Given the description of an element on the screen output the (x, y) to click on. 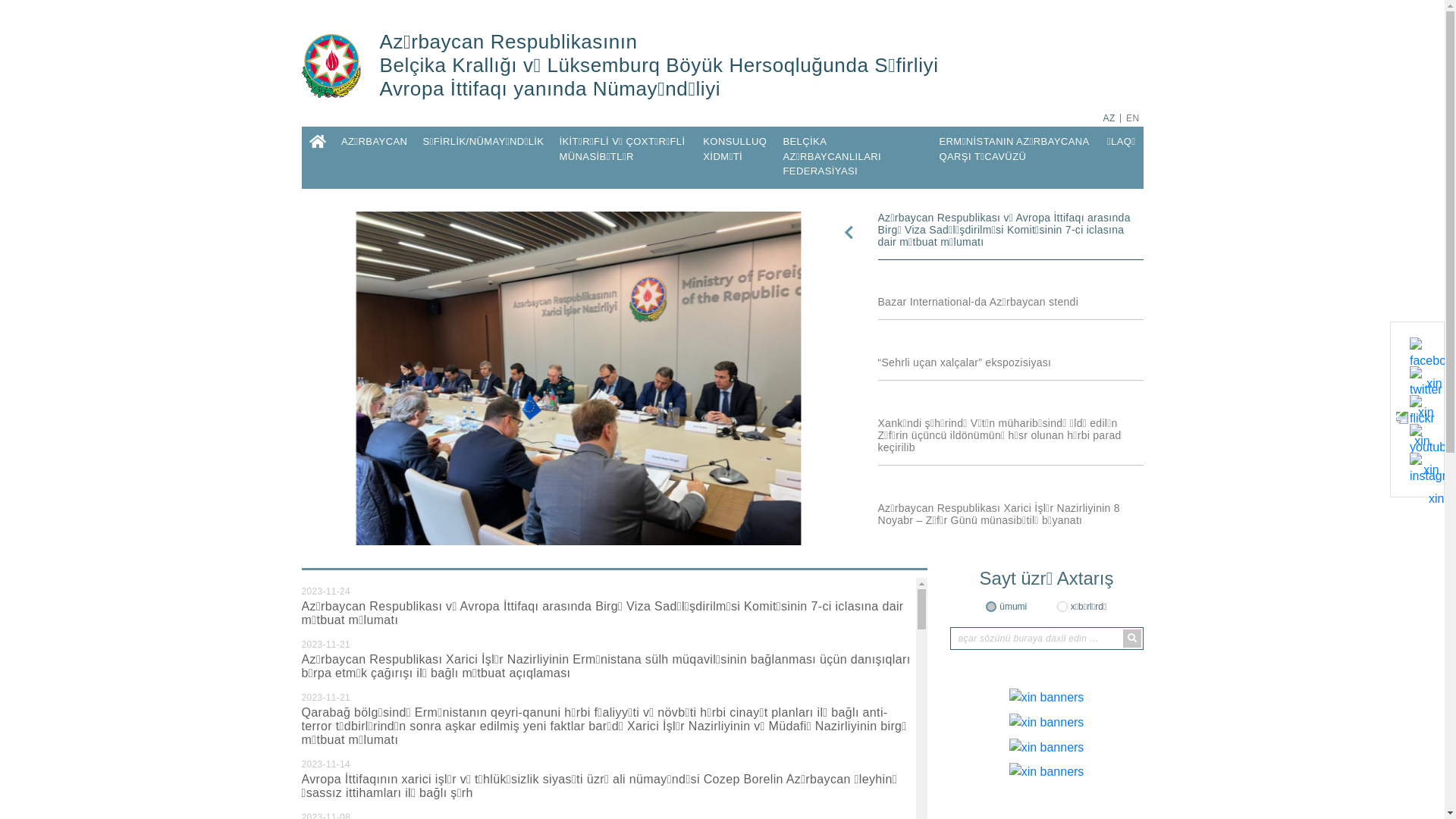
EN Element type: text (1132, 117)
AZ Element type: text (1109, 117)
